Given the description of an element on the screen output the (x, y) to click on. 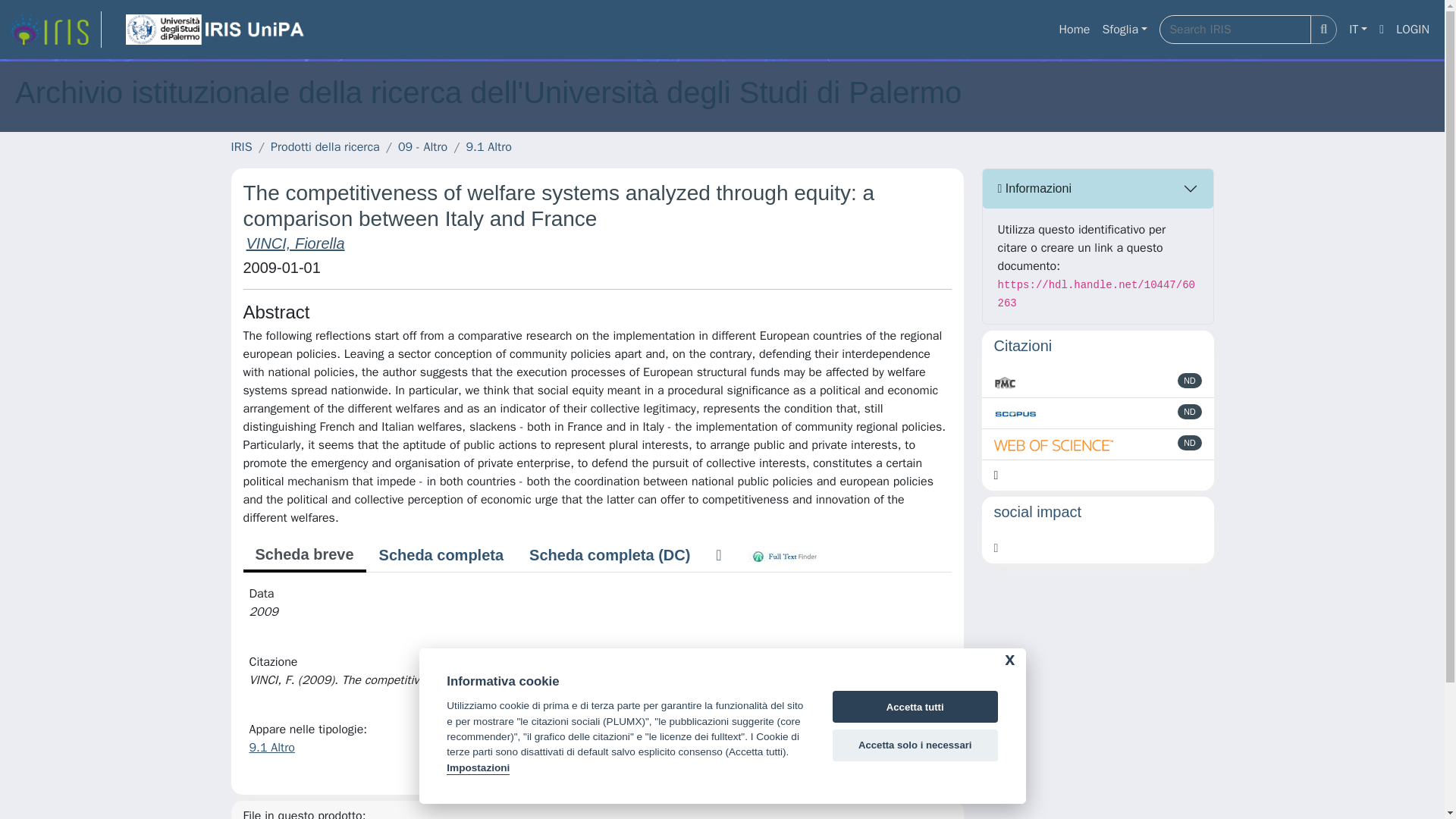
VINCI, Fiorella (294, 243)
Scheda completa (441, 554)
LOGIN (1412, 29)
Scheda breve (304, 555)
9.1 Altro (271, 747)
IRIS (240, 146)
 Informazioni (1097, 188)
9.1 Altro (488, 146)
Home (1074, 29)
Sfoglia (1124, 29)
09 - Altro (421, 146)
Prodotti della ricerca (325, 146)
IT (1357, 29)
